Given the description of an element on the screen output the (x, y) to click on. 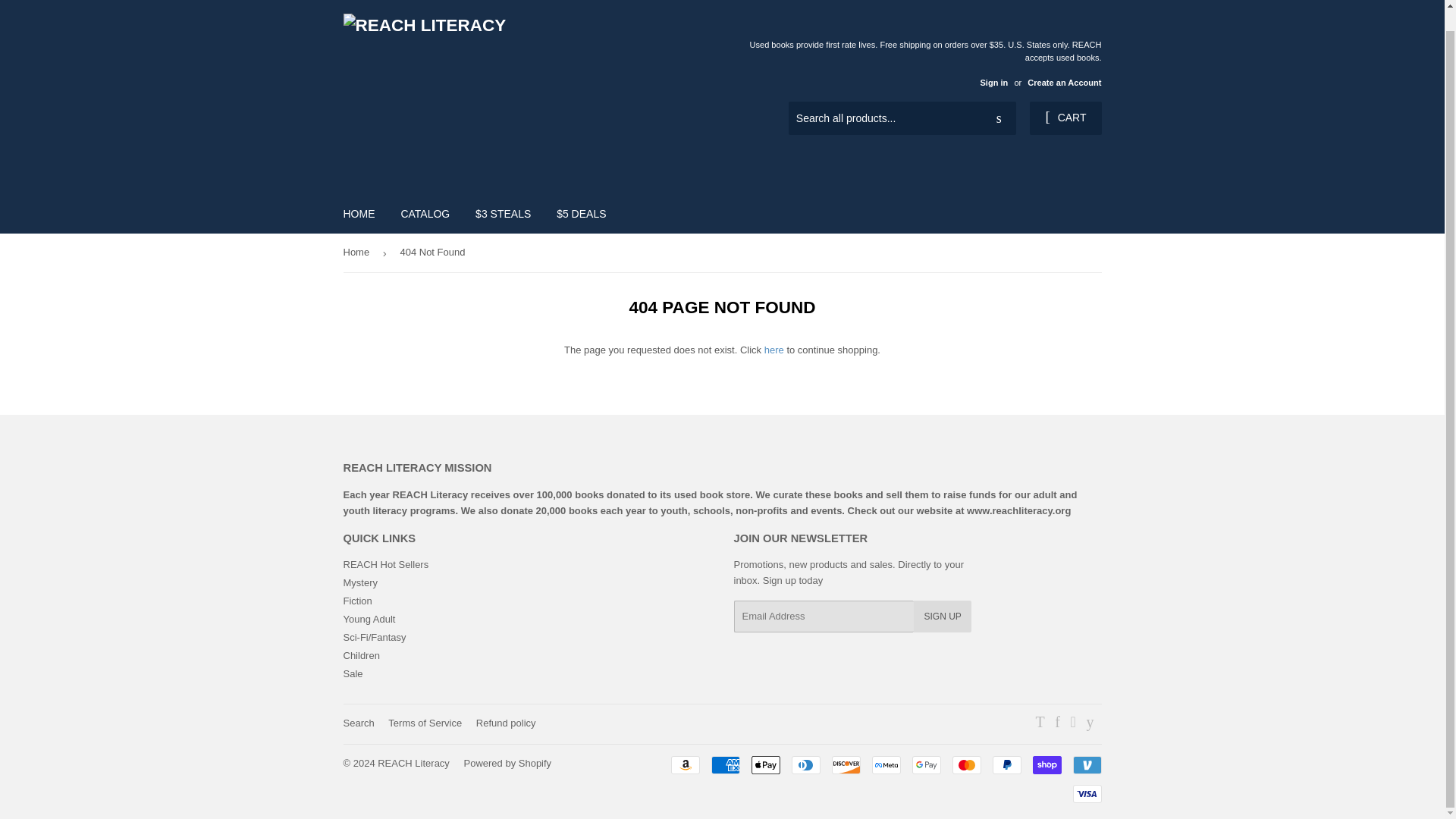
PayPal (1005, 764)
Discover (845, 764)
Refund policy (505, 722)
Terms of Service (424, 722)
Young Adult (368, 618)
REACH Hot Sellers (385, 564)
Visa (1085, 793)
Sign in (993, 81)
here (774, 348)
Shop Pay (1046, 764)
www.reachliteracy.org (1018, 510)
Create an Account (1063, 81)
Search (998, 119)
Venmo (1085, 764)
Mastercard (966, 764)
